Given the description of an element on the screen output the (x, y) to click on. 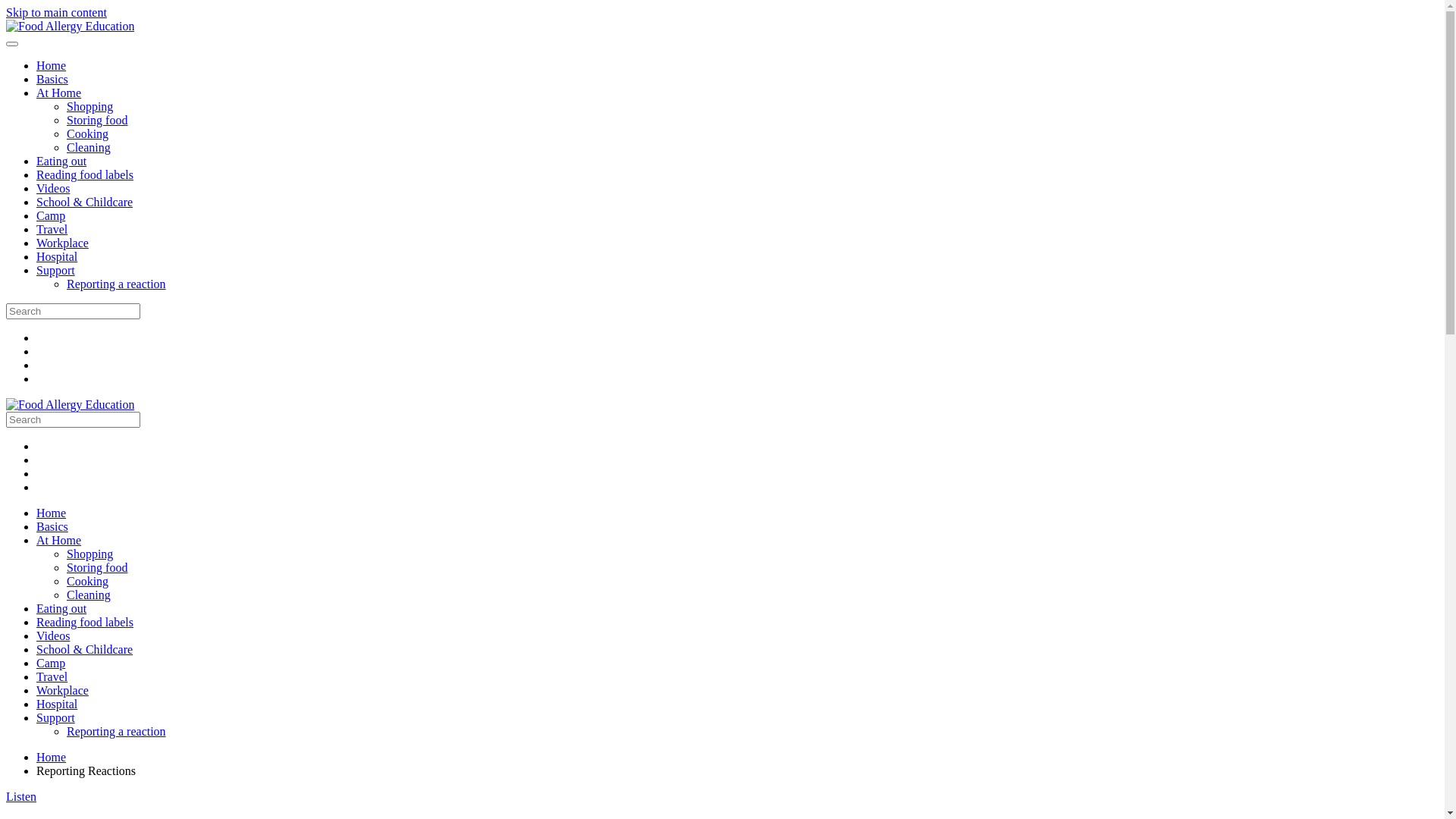
Reading food labels Element type: text (84, 174)
Eating out Element type: text (61, 160)
At Home Element type: text (58, 539)
Cooking Element type: text (87, 133)
At Home Element type: text (58, 92)
Workplace Element type: text (62, 242)
Camp Element type: text (50, 215)
Support Element type: text (55, 717)
Travel Element type: text (51, 676)
Basics Element type: text (52, 78)
School & Childcare Element type: text (84, 649)
Listen Element type: text (21, 796)
Videos Element type: text (52, 635)
Home Element type: text (50, 512)
Home Element type: text (50, 756)
Shopping Element type: text (89, 106)
Reporting a reaction Element type: text (116, 730)
Basics Element type: text (52, 526)
Storing food Element type: text (96, 119)
Cleaning Element type: text (88, 147)
Reporting a reaction Element type: text (116, 283)
Hospital Element type: text (56, 703)
Skip to main content Element type: text (56, 12)
Support Element type: text (55, 269)
Camp Element type: text (50, 662)
Storing food Element type: text (96, 567)
Hospital Element type: text (56, 256)
Cleaning Element type: text (88, 594)
Travel Element type: text (51, 228)
Workplace Element type: text (62, 690)
Cooking Element type: text (87, 580)
Home Element type: text (50, 65)
Eating out Element type: text (61, 608)
School & Childcare Element type: text (84, 201)
Videos Element type: text (52, 188)
Reading food labels Element type: text (84, 621)
Shopping Element type: text (89, 553)
